Given the description of an element on the screen output the (x, y) to click on. 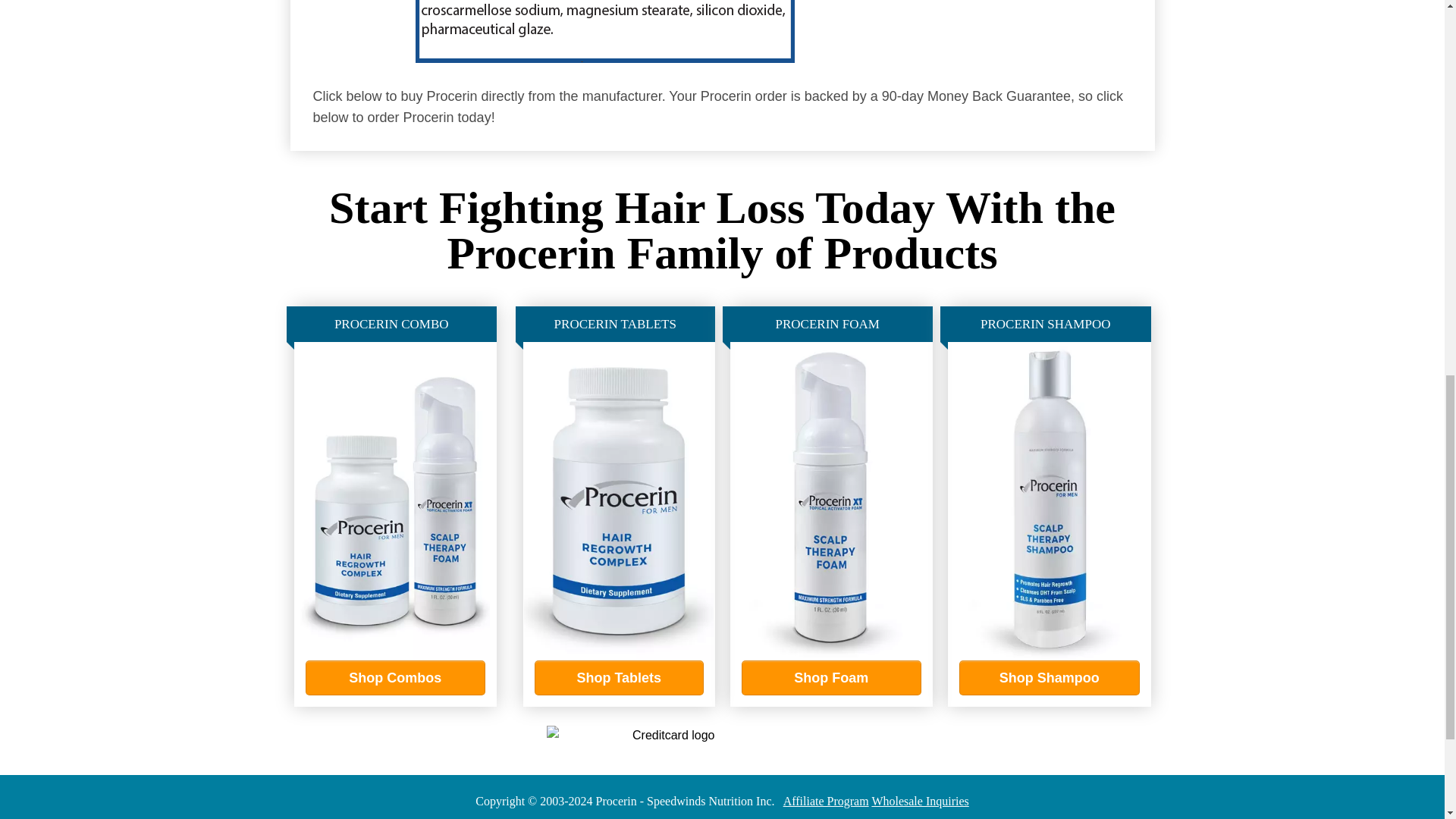
Affiliate Program (826, 800)
